Given the description of an element on the screen output the (x, y) to click on. 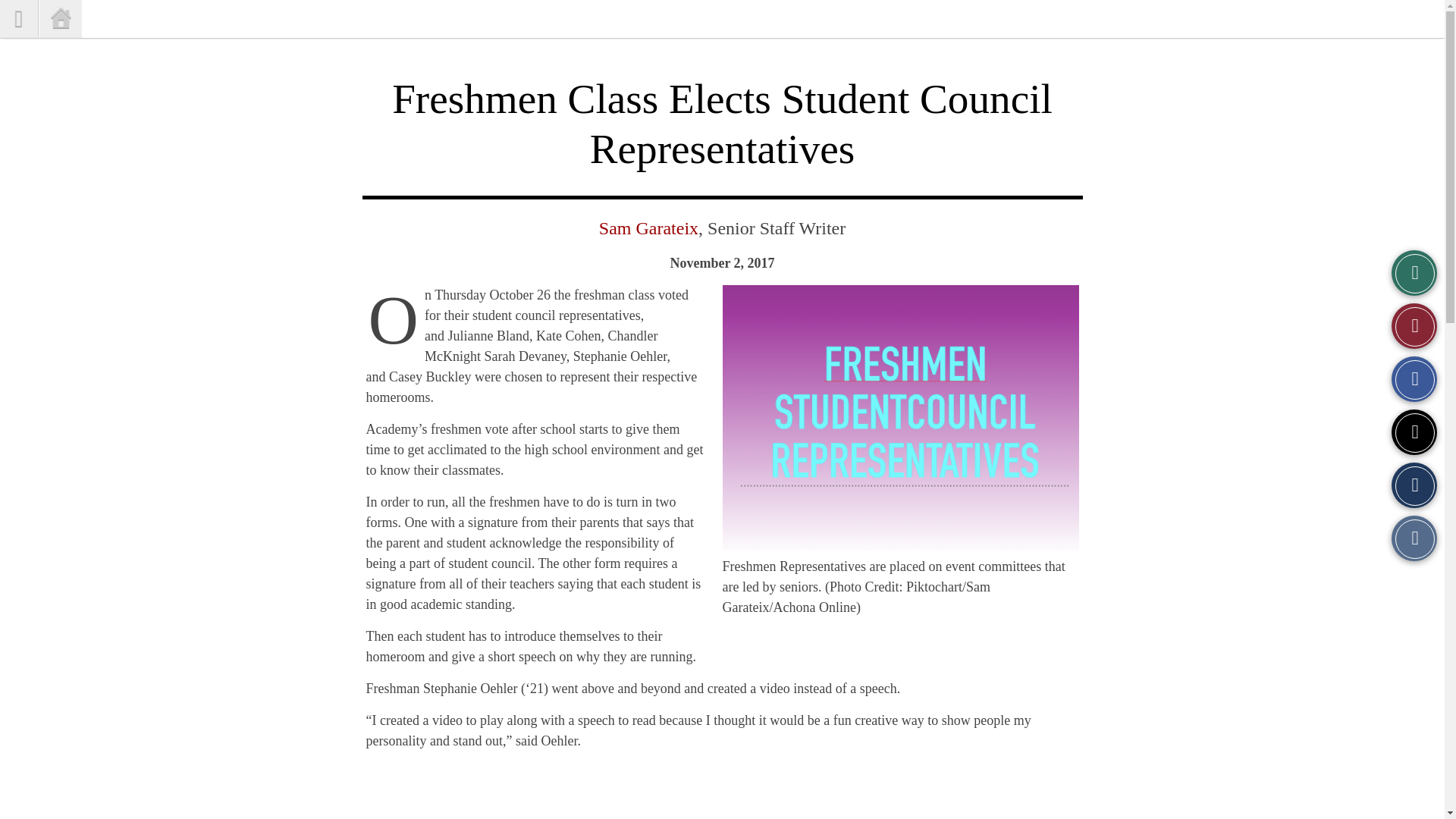
Share on Facebook (1414, 379)
Share on X (1414, 432)
Print this Story (1414, 538)
Share via Email (1414, 484)
Share on Facebook (1414, 379)
Tweet This Story (1414, 432)
Print (1414, 538)
Sam Garateix (648, 228)
Email this Story (1414, 484)
